Given the description of an element on the screen output the (x, y) to click on. 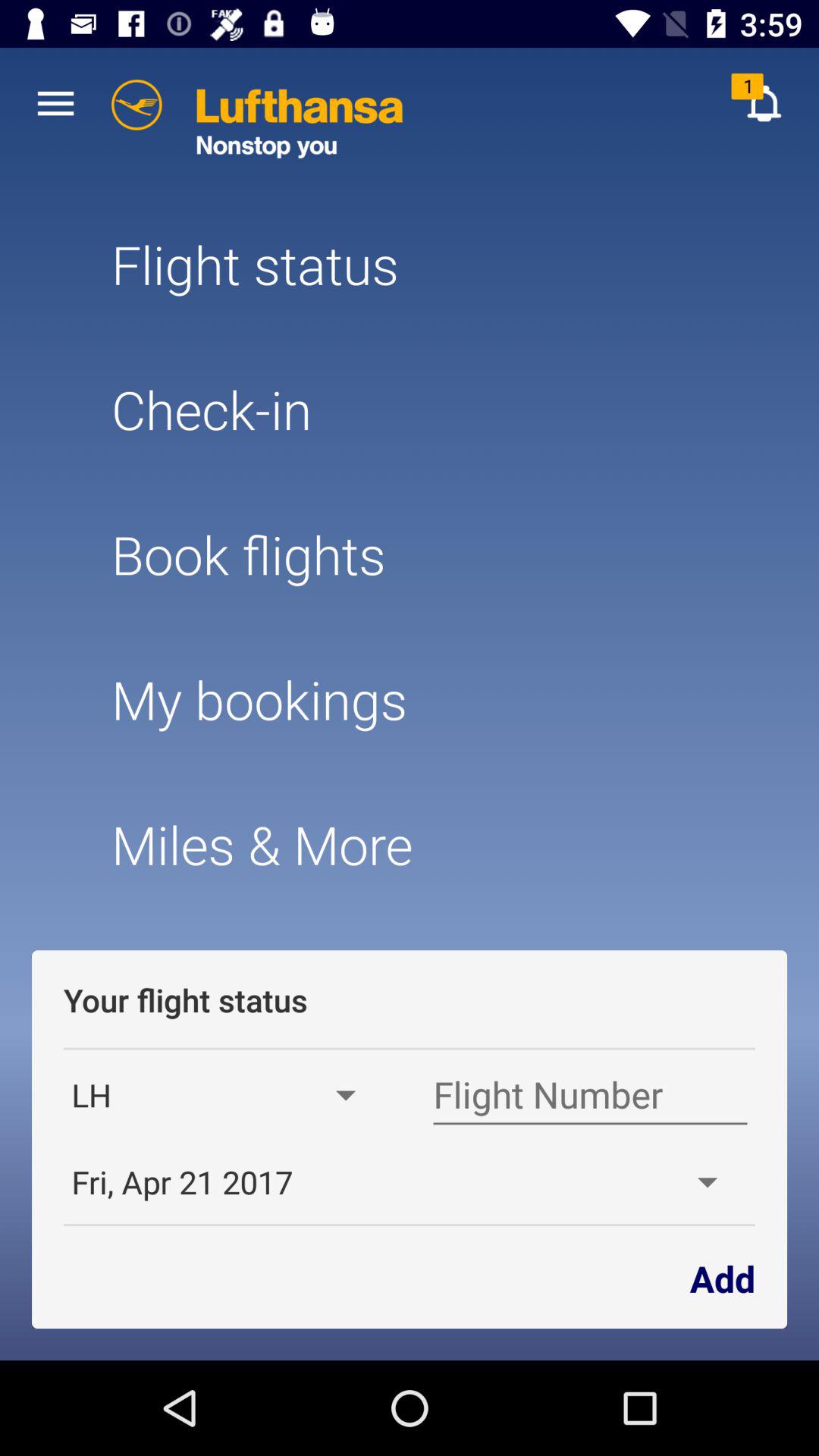
turn off icon below book flights icon (409, 699)
